Given the description of an element on the screen output the (x, y) to click on. 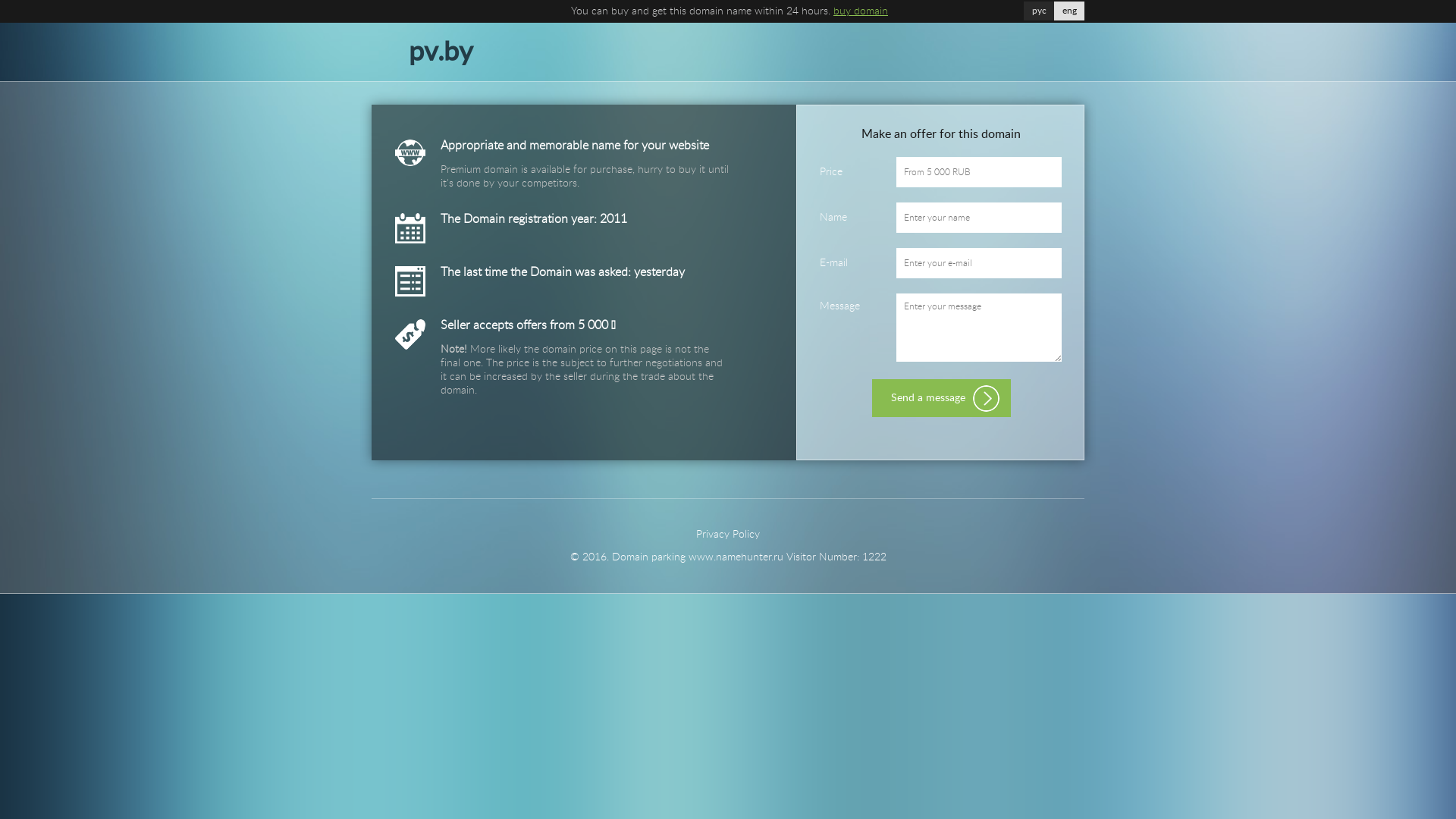
www.namehunter.ru Element type: text (735, 557)
Send a message Element type: text (941, 398)
buy domain Element type: text (860, 11)
Privacy Policy Element type: text (727, 534)
